Given the description of an element on the screen output the (x, y) to click on. 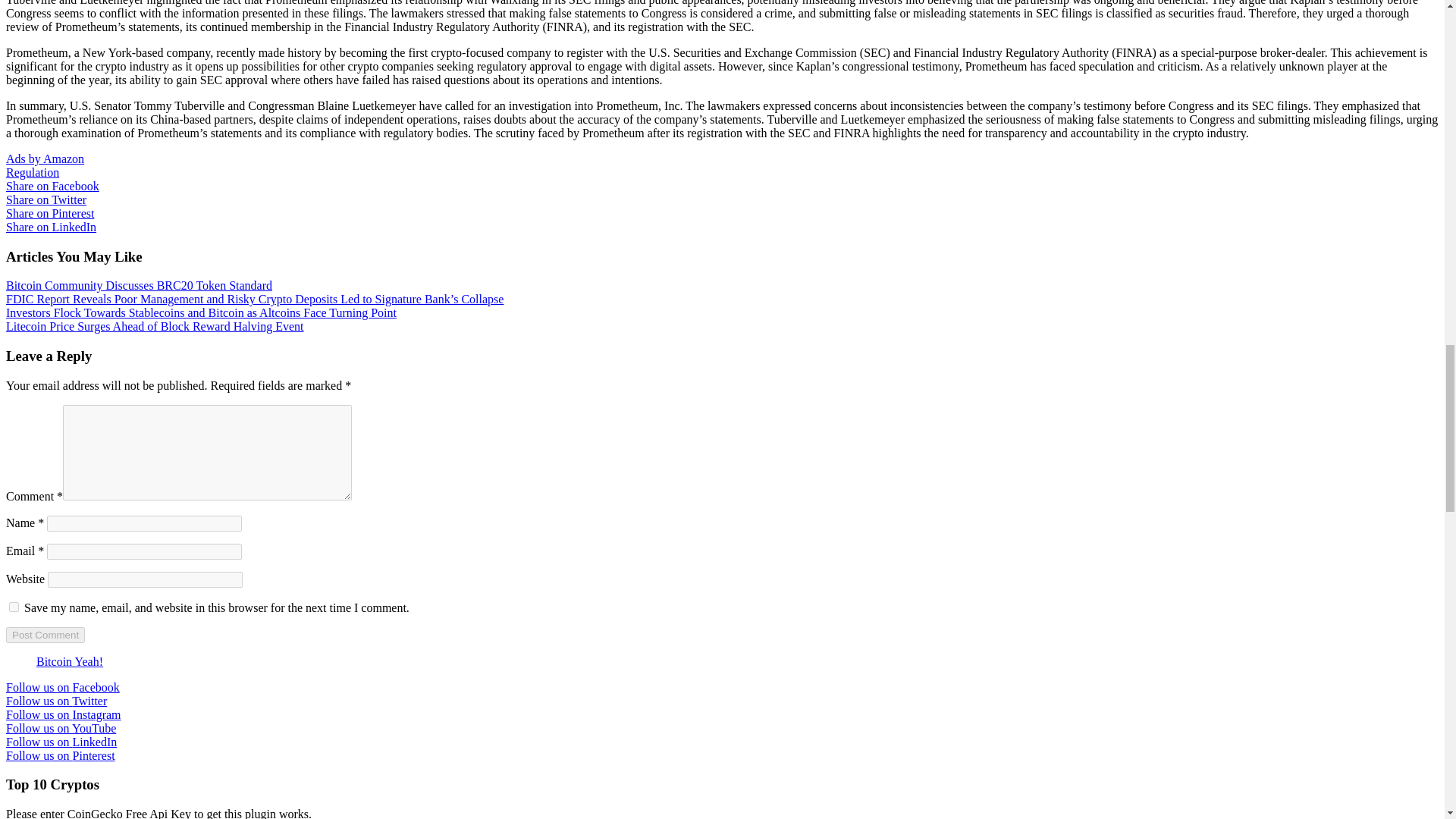
Post Comment (44, 634)
Regulation (32, 172)
yes (13, 606)
